Given the description of an element on the screen output the (x, y) to click on. 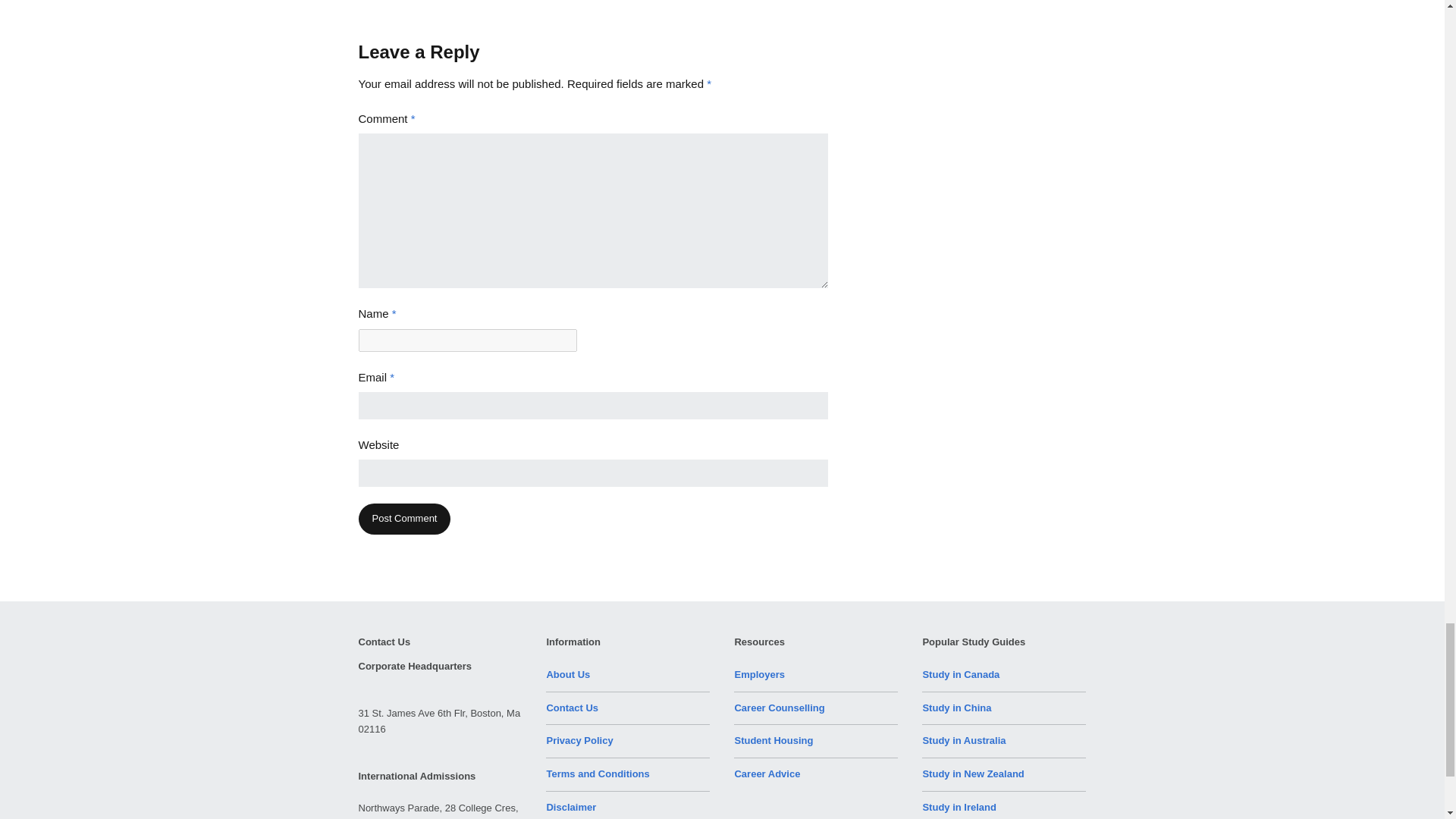
Post Comment (403, 518)
